Given the description of an element on the screen output the (x, y) to click on. 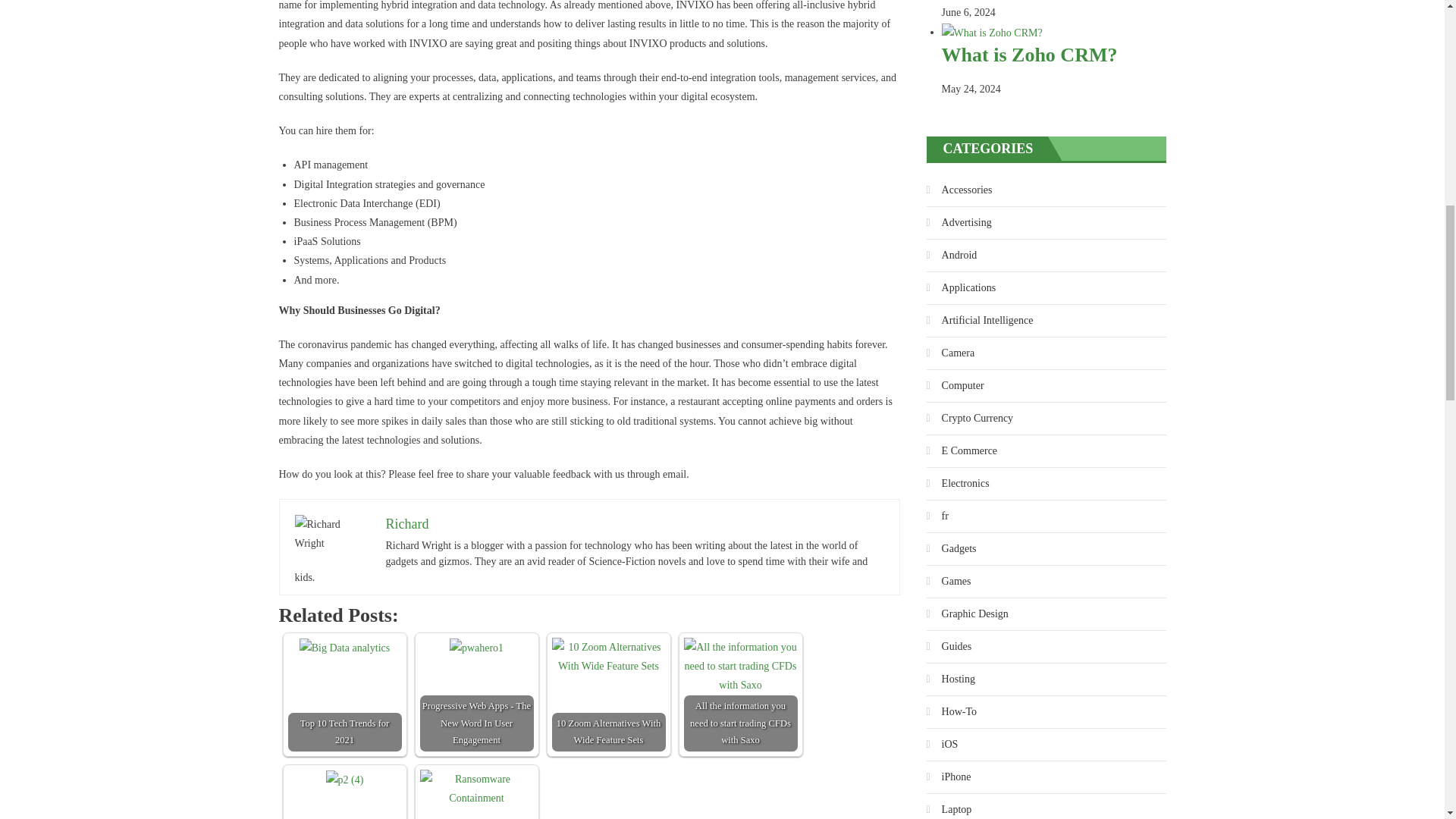
10 Zoom Alternatives With Wide Feature Sets (608, 656)
Progressive Web Apps - The New Word In User Engagement (476, 647)
All the information you need to start trading CFDs with Saxo (740, 666)
Richard Wright (331, 533)
Top 10 Tech Trends for 2021 (344, 647)
